Given the description of an element on the screen output the (x, y) to click on. 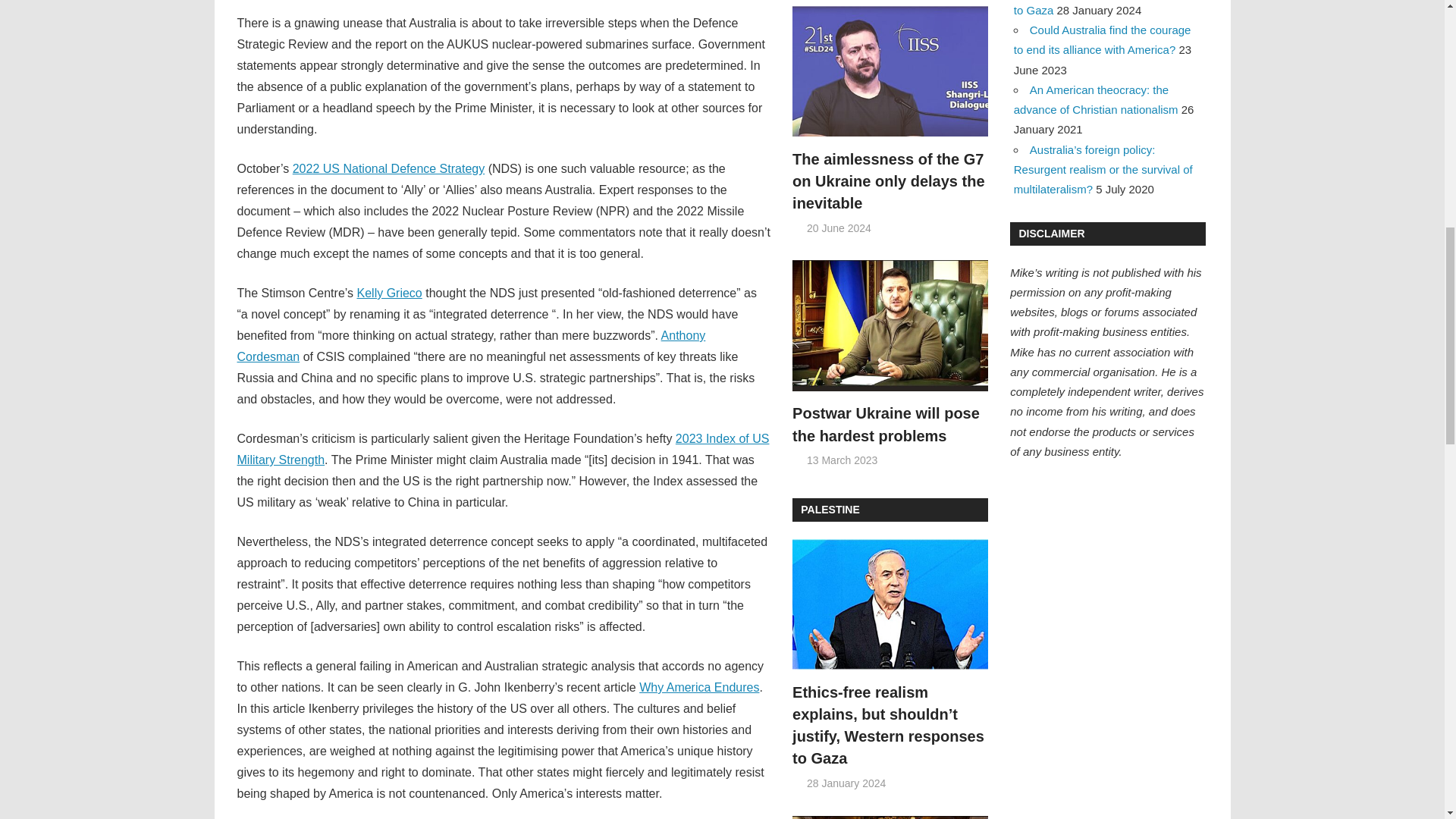
11:23 pm (838, 227)
2:13 am (841, 460)
Why America Endures (698, 686)
Anthony Cordesman (469, 346)
2023 Index of US Military Strength (501, 449)
View all posts from category Palestine (830, 509)
2022 US National Defence Strategy (388, 168)
11:52 pm (845, 783)
Kelly Grieco (389, 292)
